Given the description of an element on the screen output the (x, y) to click on. 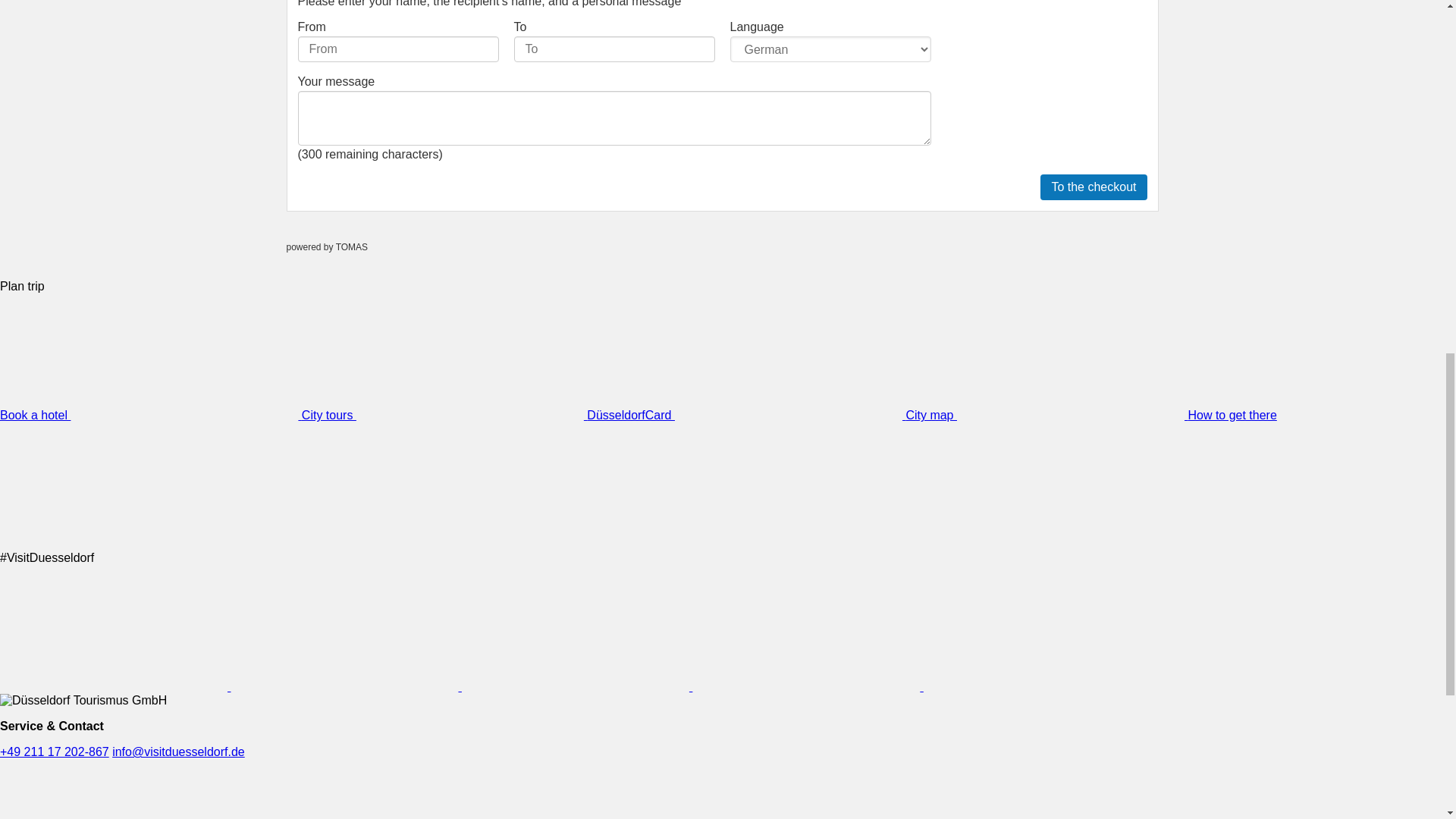
To the checkout (1094, 186)
City map (1046, 414)
City tours (443, 414)
To the checkout (1094, 186)
Book a hotel (150, 414)
back to top (1409, 18)
